Given the description of an element on the screen output the (x, y) to click on. 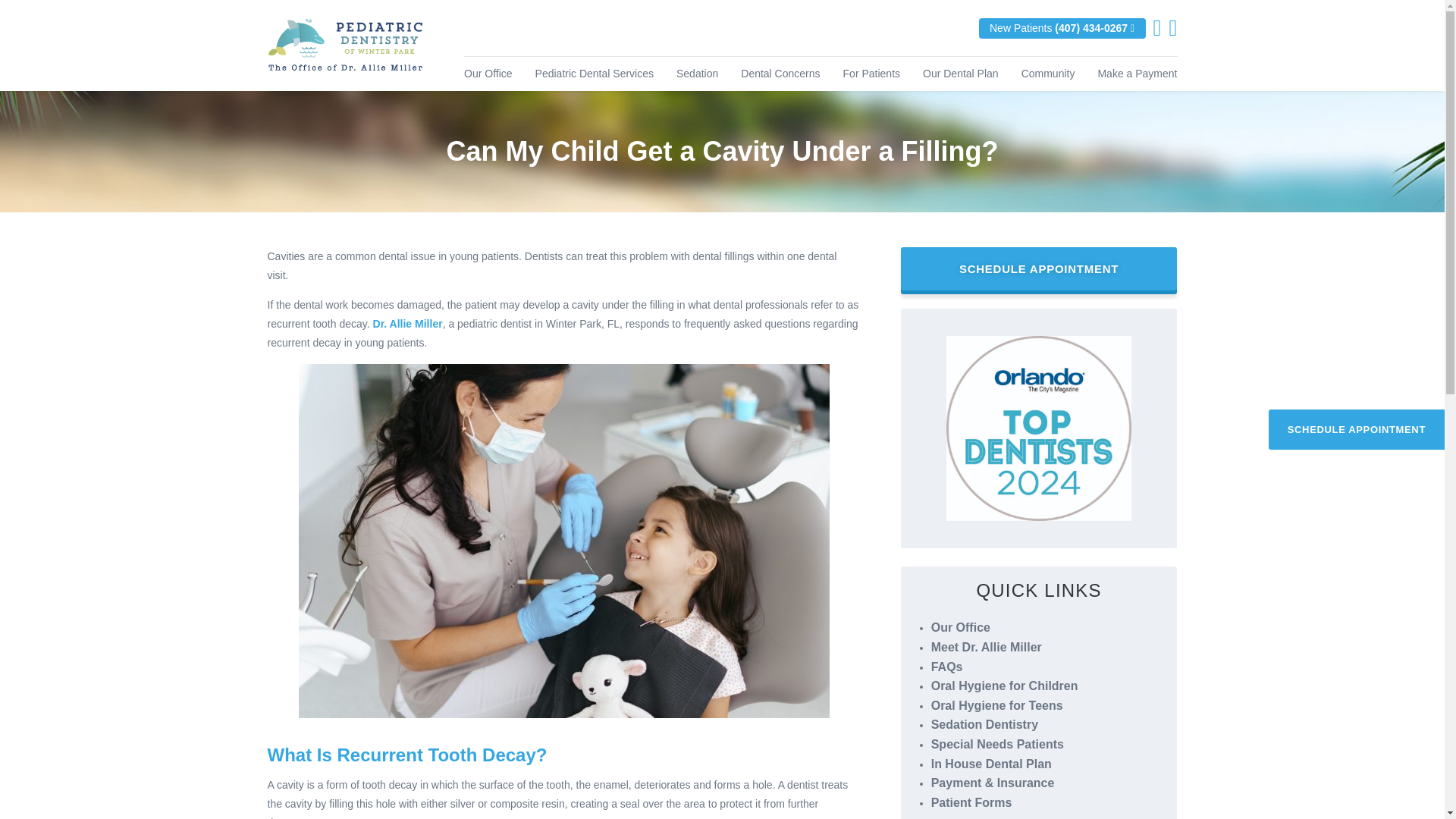
Pediatric Dental Services (594, 73)
For Patients (871, 73)
Our Office (488, 73)
Sedation (697, 73)
Dental Concerns (780, 73)
